Given the description of an element on the screen output the (x, y) to click on. 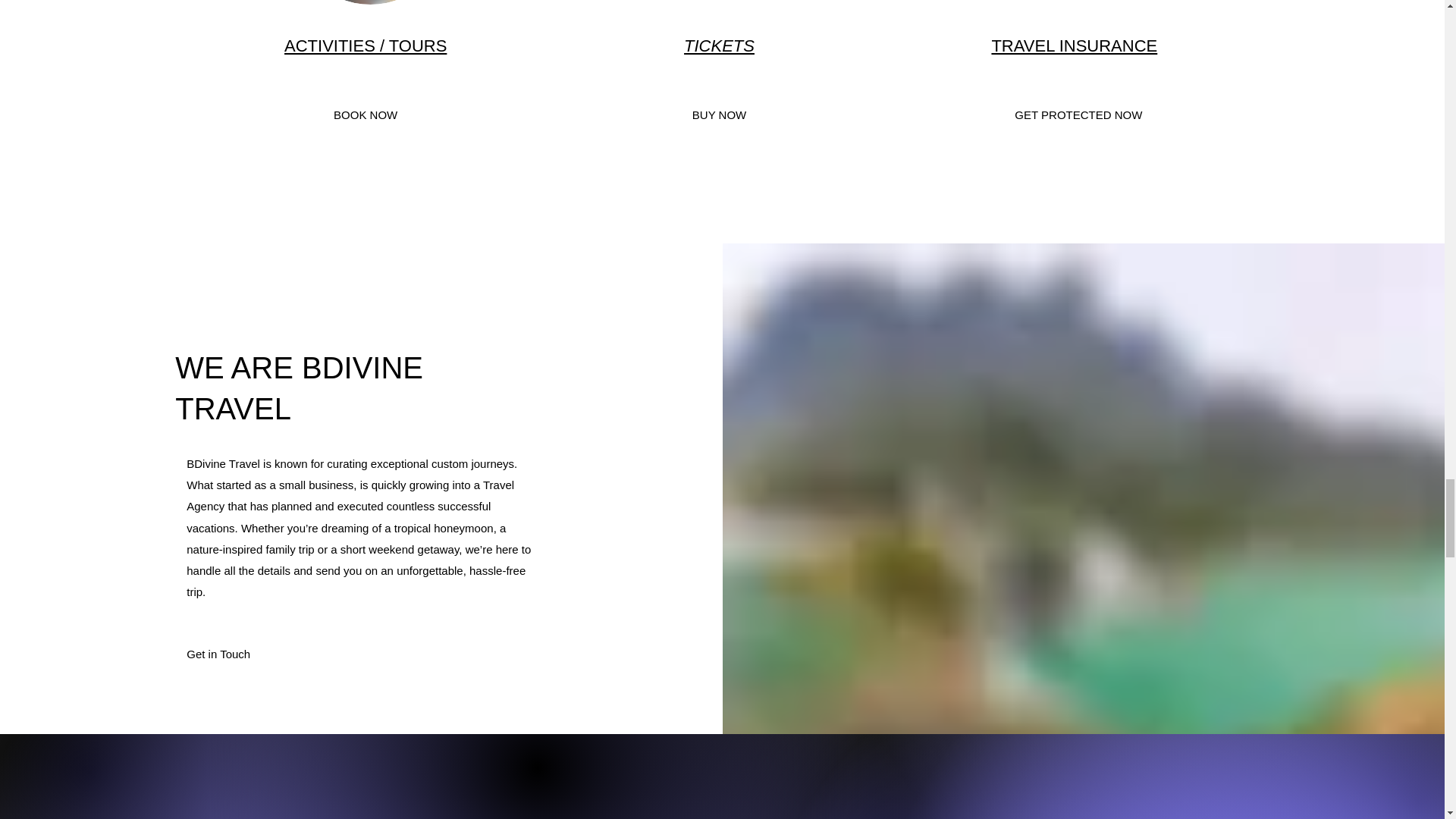
BOOK NOW (365, 115)
GET PROTECTED NOW (1077, 115)
TICKETS (719, 45)
BUY NOW (718, 115)
TRAVEL INSURANCE (1074, 45)
